Given the description of an element on the screen output the (x, y) to click on. 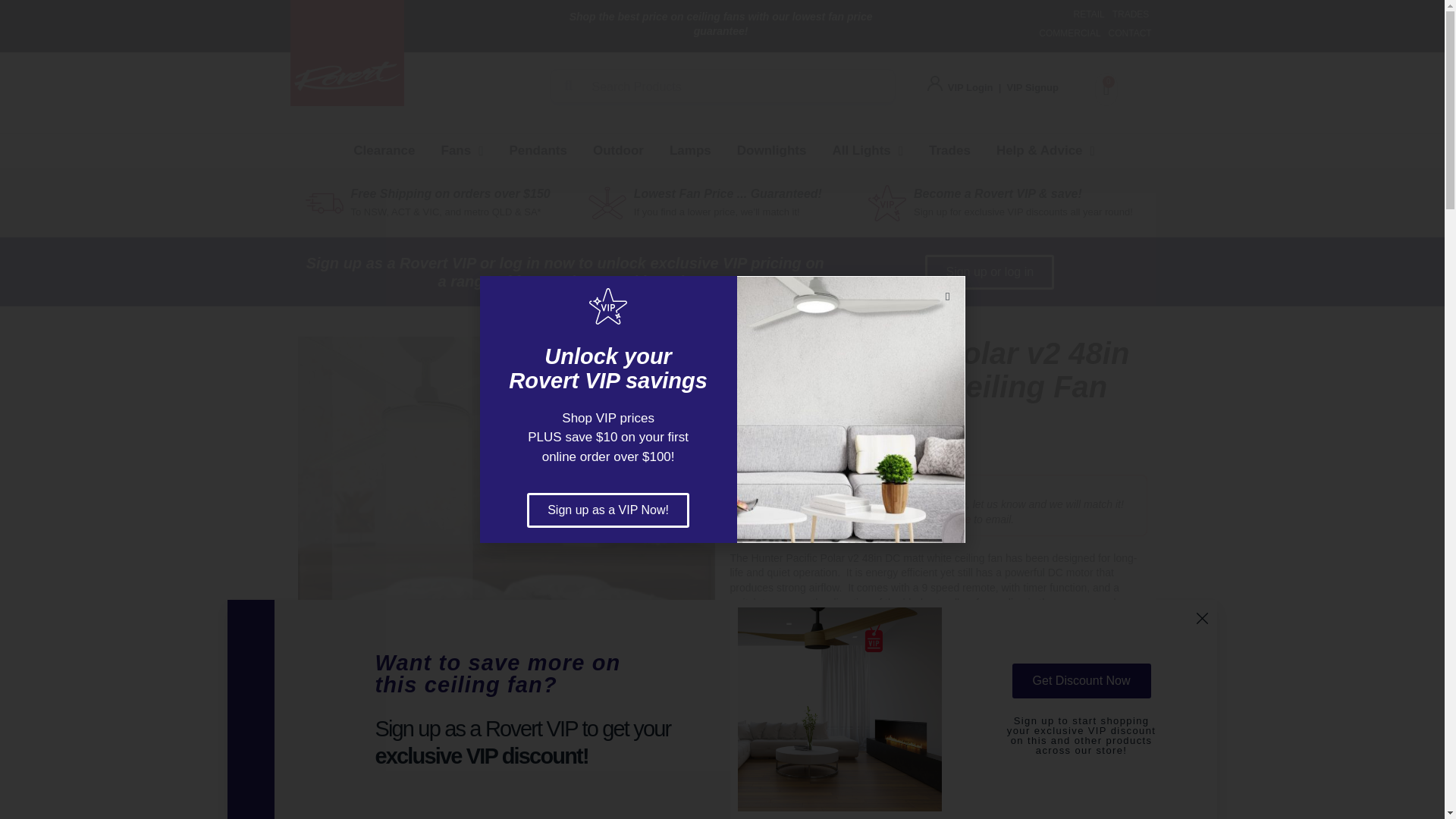
COMMERCIAL (1069, 32)
VIP Login (969, 87)
Fans (462, 150)
CONTACT (1129, 32)
Pendants (537, 150)
Lamps (689, 150)
All Lights (867, 150)
P3B2571 (349, 786)
Polar Info Sheet (453, 786)
VIP Signup (1032, 87)
Pixiea (662, 786)
Downlights (772, 150)
TRADES (1131, 14)
Hunter Pac DC 9 Speed Remote (558, 786)
